Given the description of an element on the screen output the (x, y) to click on. 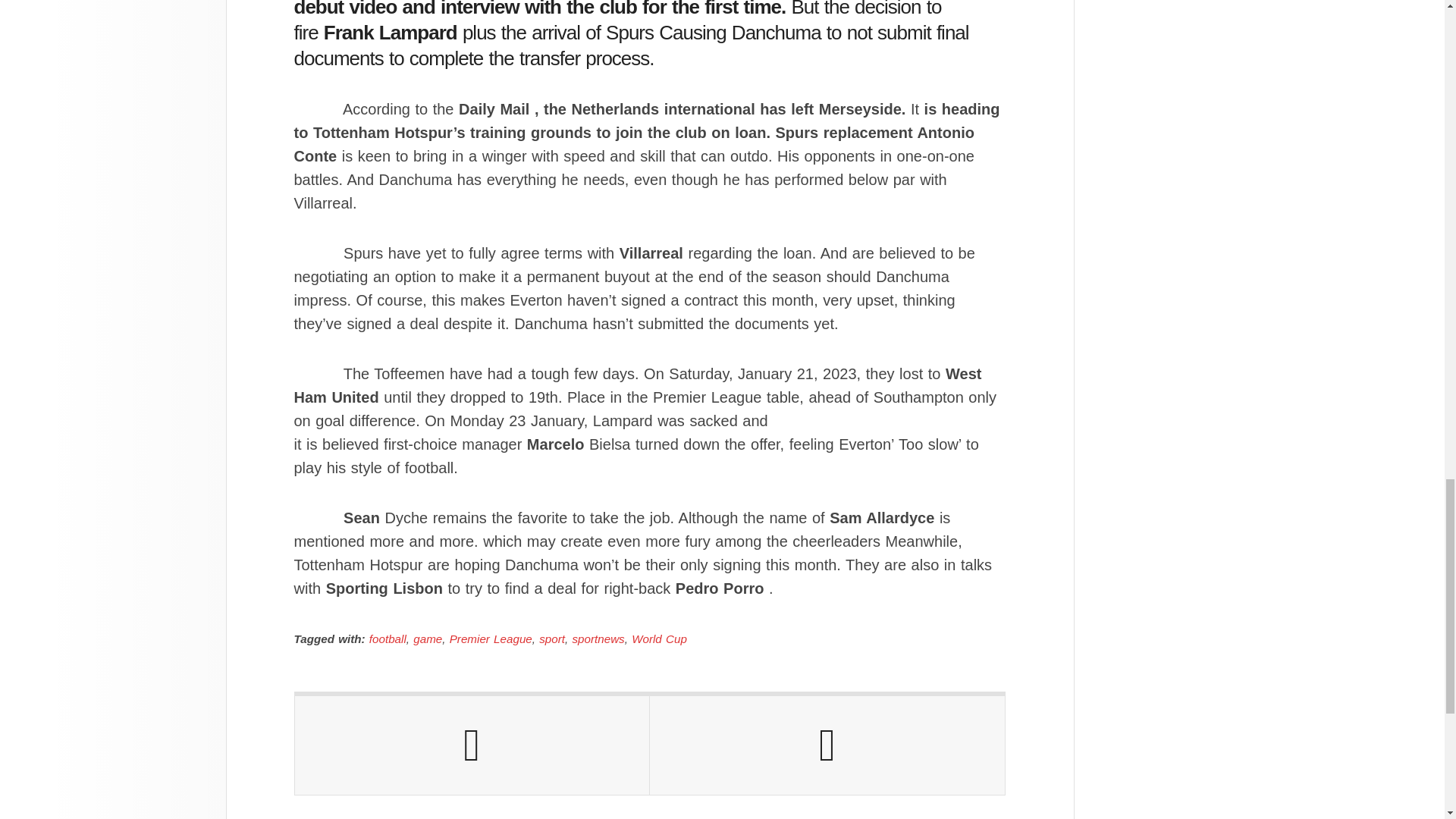
sport (551, 638)
World Cup (659, 638)
Previous Post (471, 745)
sportnews (598, 638)
Premier League (490, 638)
football (387, 638)
game (427, 638)
Next Post (826, 745)
